Given the description of an element on the screen output the (x, y) to click on. 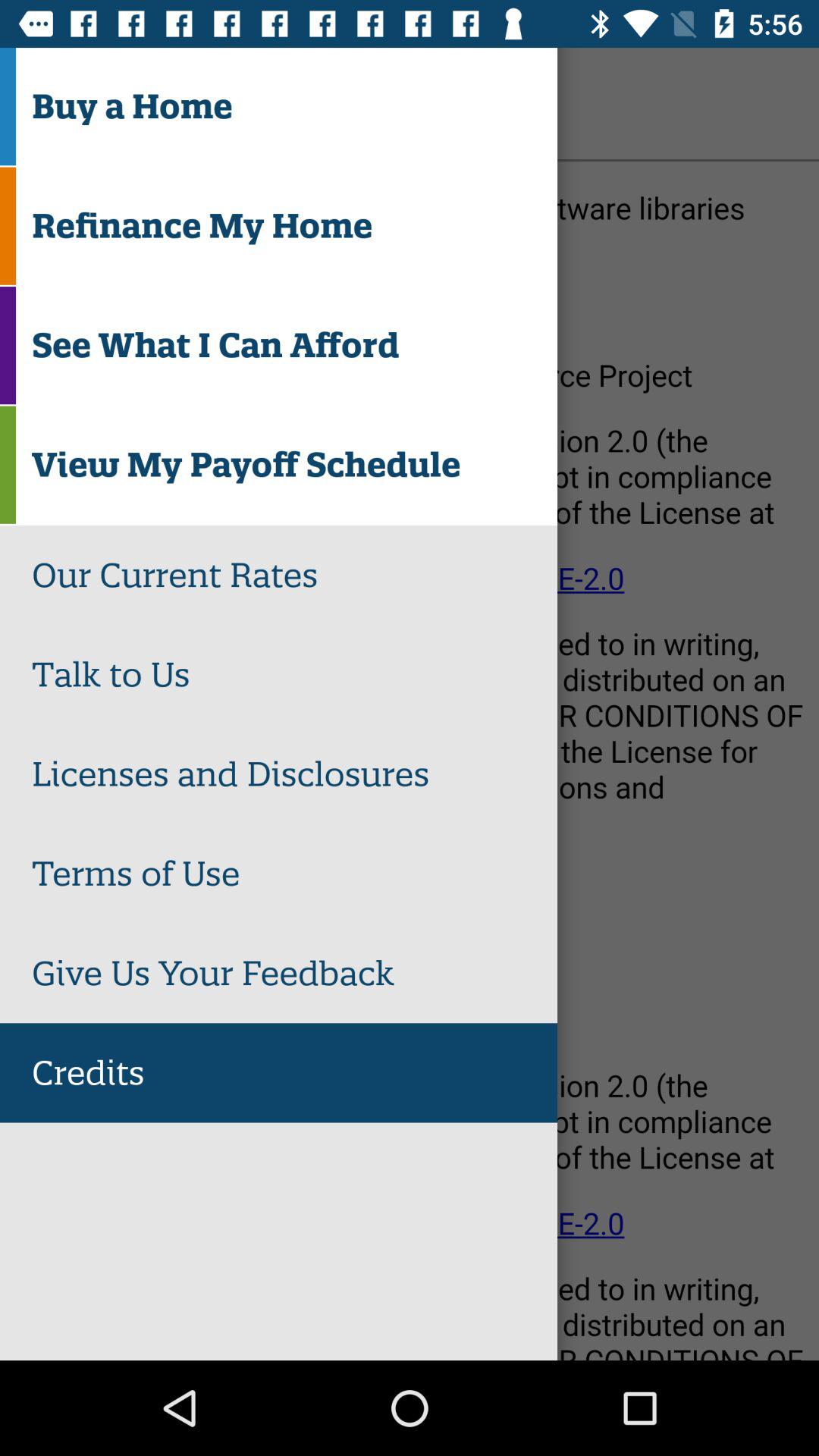
scroll to the licenses and disclosures (294, 774)
